Given the description of an element on the screen output the (x, y) to click on. 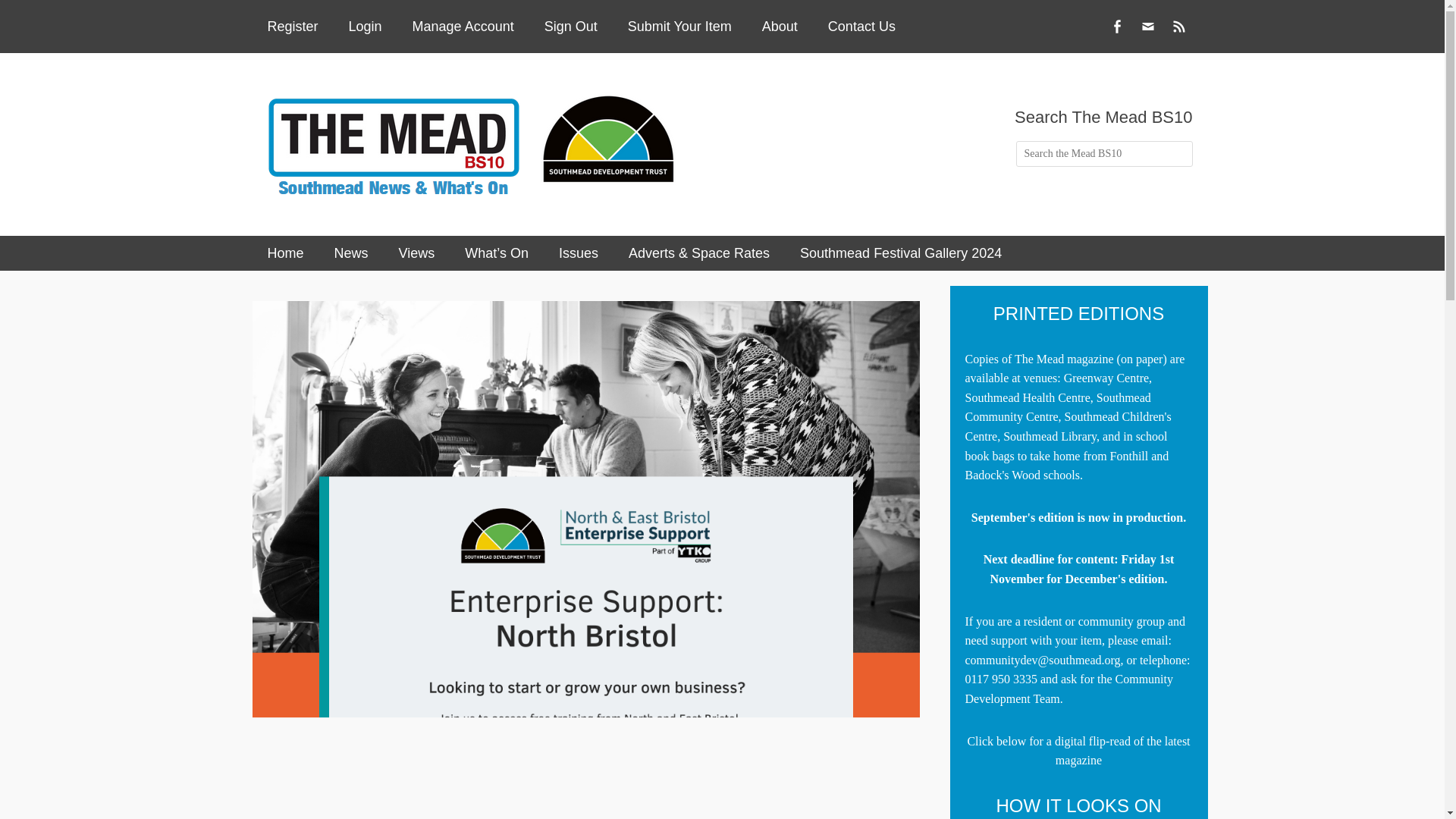
About (779, 26)
Sign Out (570, 26)
Submit Your Item (679, 26)
Search (43, 18)
Feed (1178, 26)
Manage Account (463, 26)
Email (1147, 26)
Facebook (1115, 26)
Issues (577, 253)
Login (365, 26)
